Given the description of an element on the screen output the (x, y) to click on. 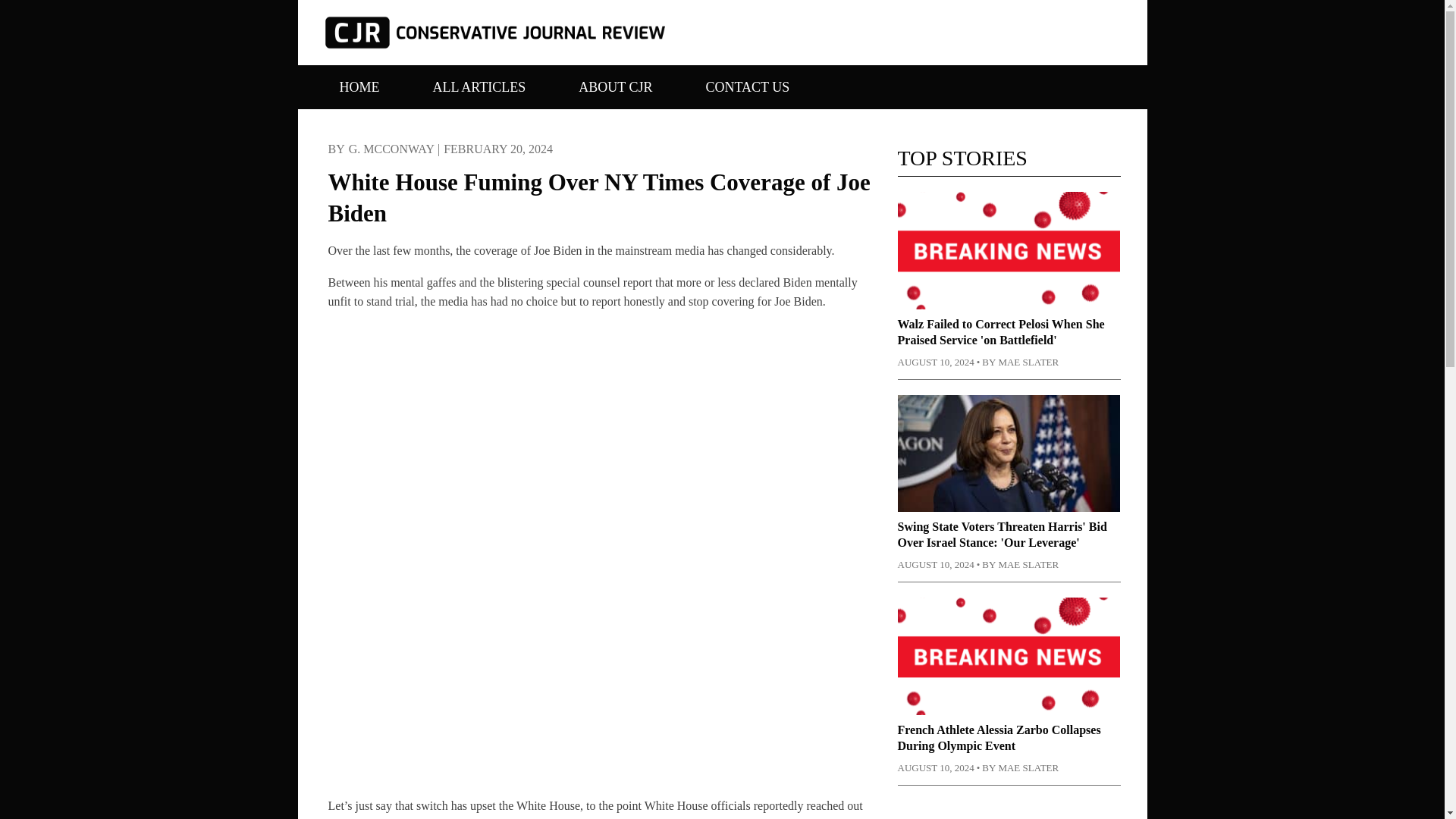
G. MCCONWAY (391, 148)
CONTACT US (747, 90)
French Athlete Alessia Zarbo Collapses During Olympic Event (999, 737)
ALL ARTICLES (479, 90)
HOME (358, 90)
ABOUT CJR (615, 90)
